Given the description of an element on the screen output the (x, y) to click on. 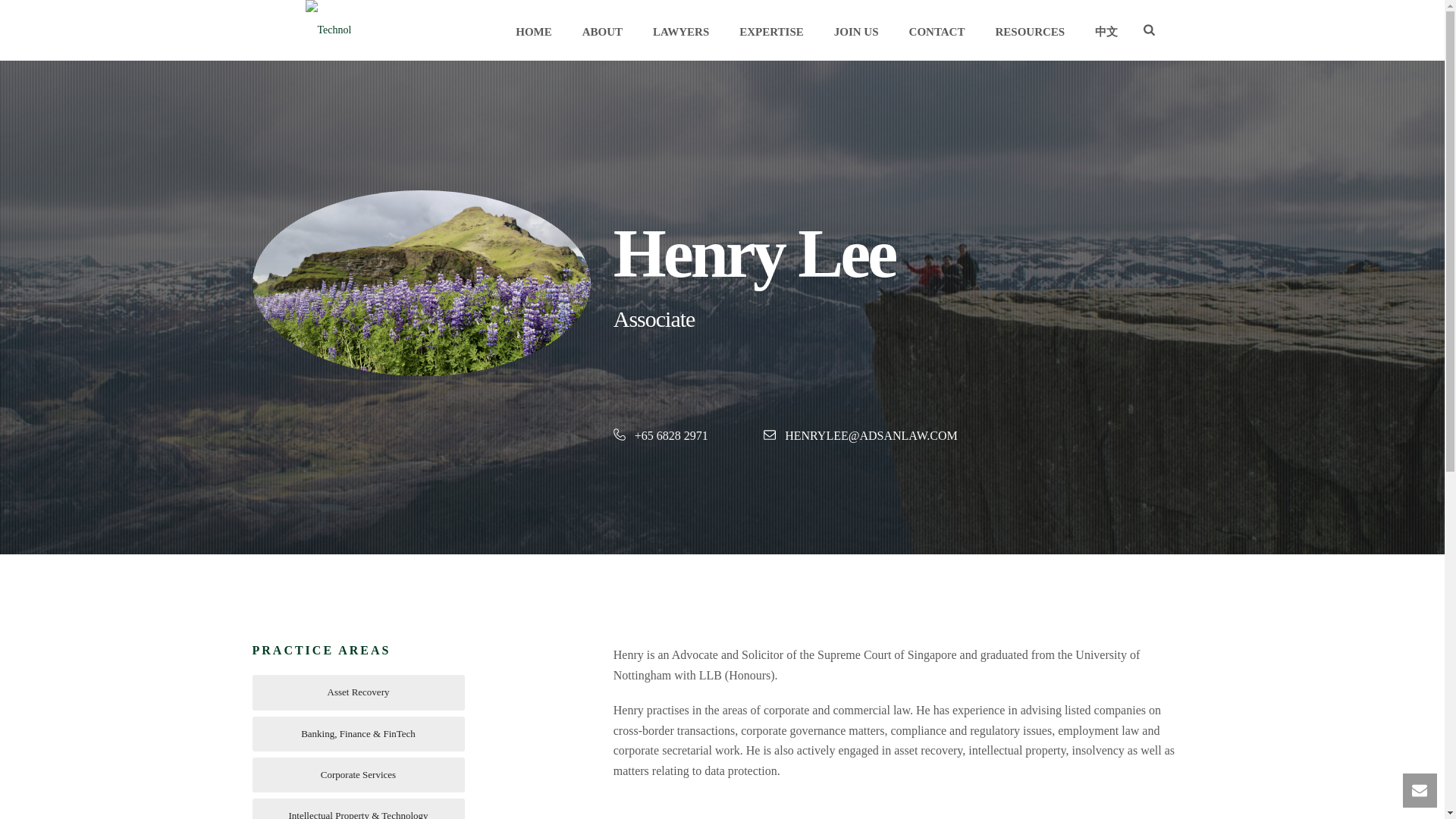
CONTACT (936, 30)
JOIN US (855, 30)
LAWYERS (680, 30)
RESOURCES (1029, 30)
Asset Recovery (357, 692)
CONTACT (936, 30)
RESOURCES (1029, 30)
HOME (533, 30)
EXPERTISE (770, 30)
ABOUT (602, 30)
JOIN US (855, 30)
Corporate Services (357, 774)
LAWYERS (680, 30)
Technology Law Firm in Singapore (329, 30)
ABOUT (602, 30)
